Given the description of an element on the screen output the (x, y) to click on. 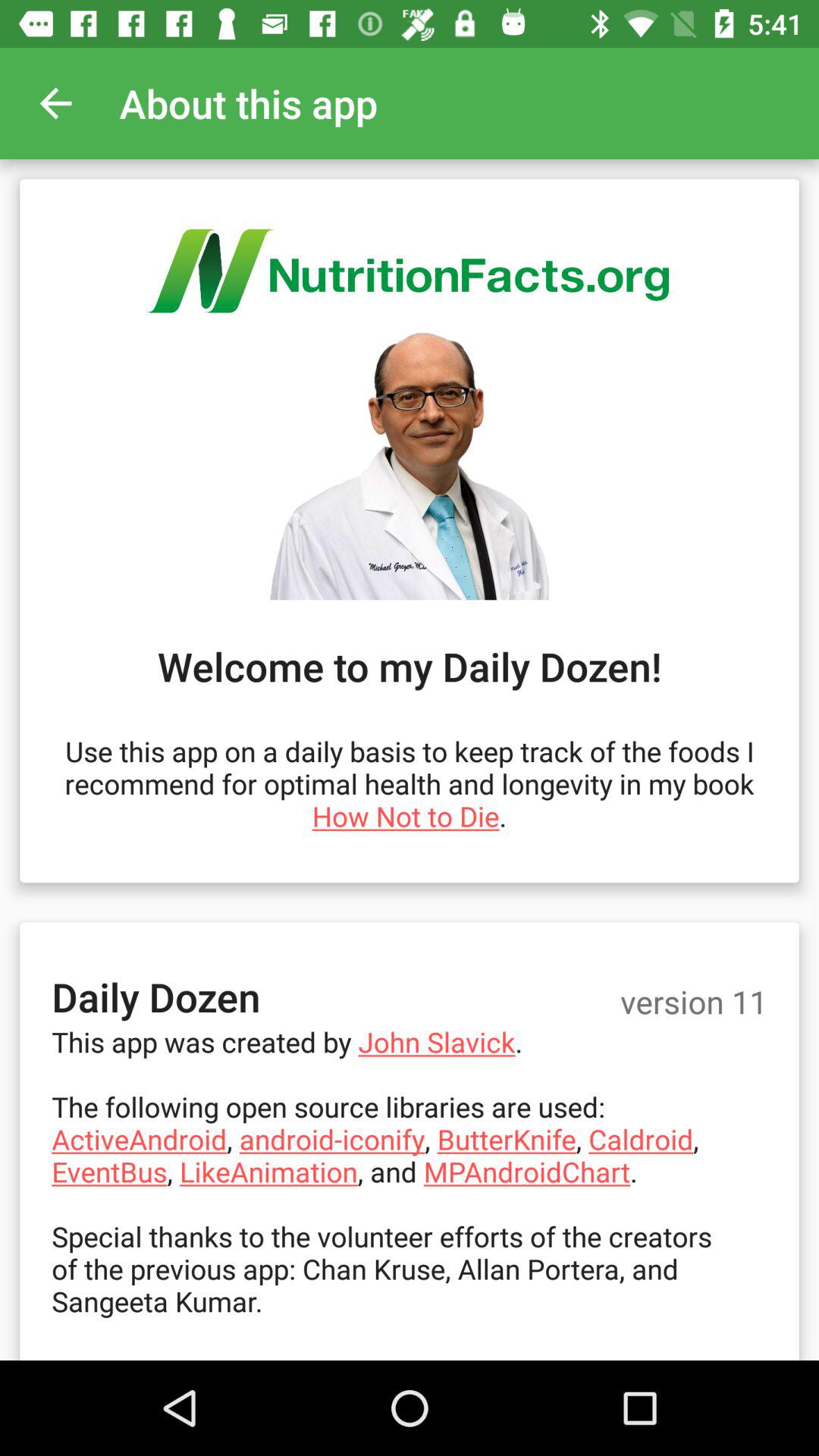
tap item next to the about this app app (55, 103)
